Given the description of an element on the screen output the (x, y) to click on. 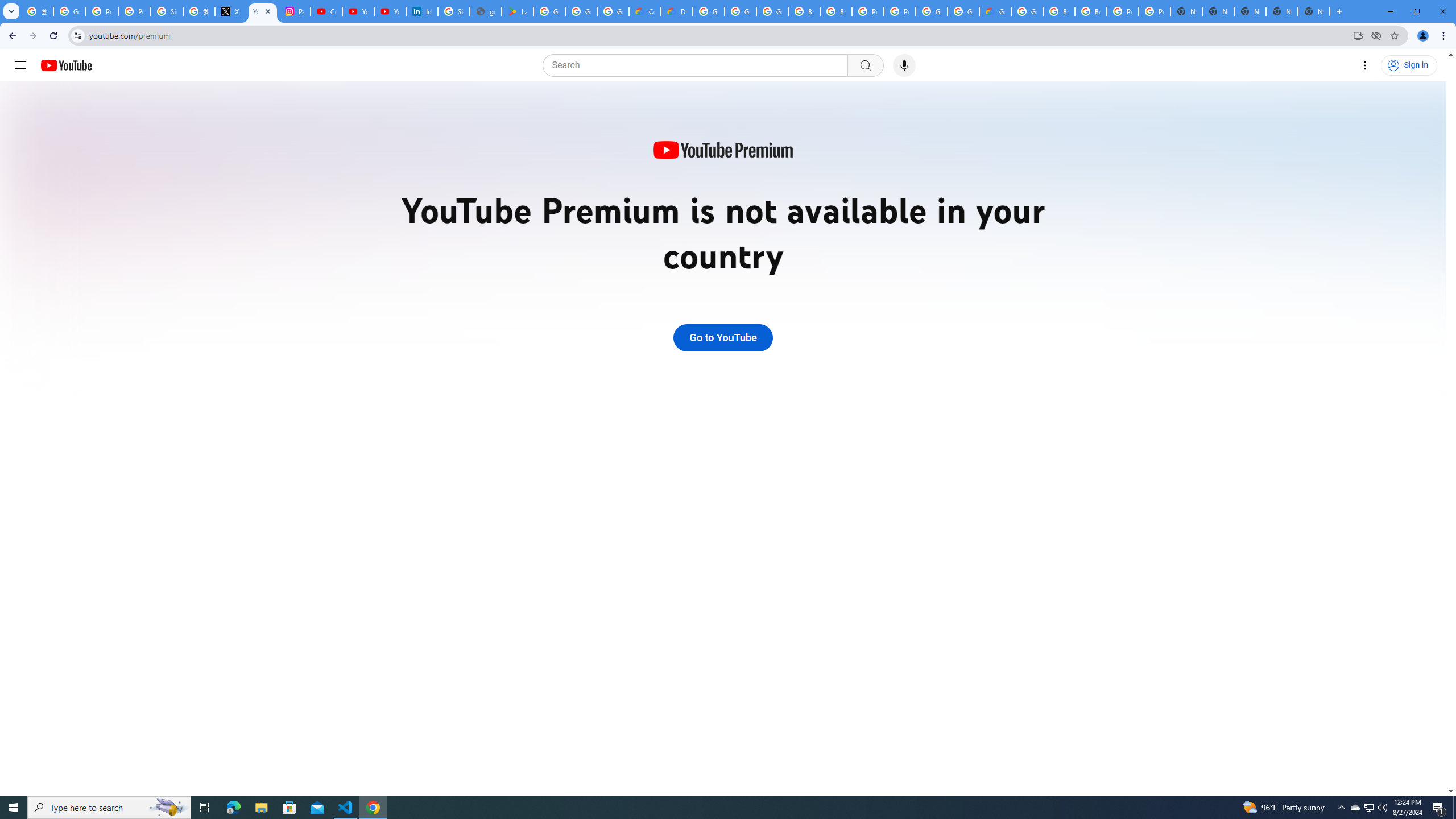
Install YouTube (1358, 35)
Last Shelter: Survival - Apps on Google Play (517, 11)
Browse Chrome as a guest - Computer - Google Chrome Help (804, 11)
